Given the description of an element on the screen output the (x, y) to click on. 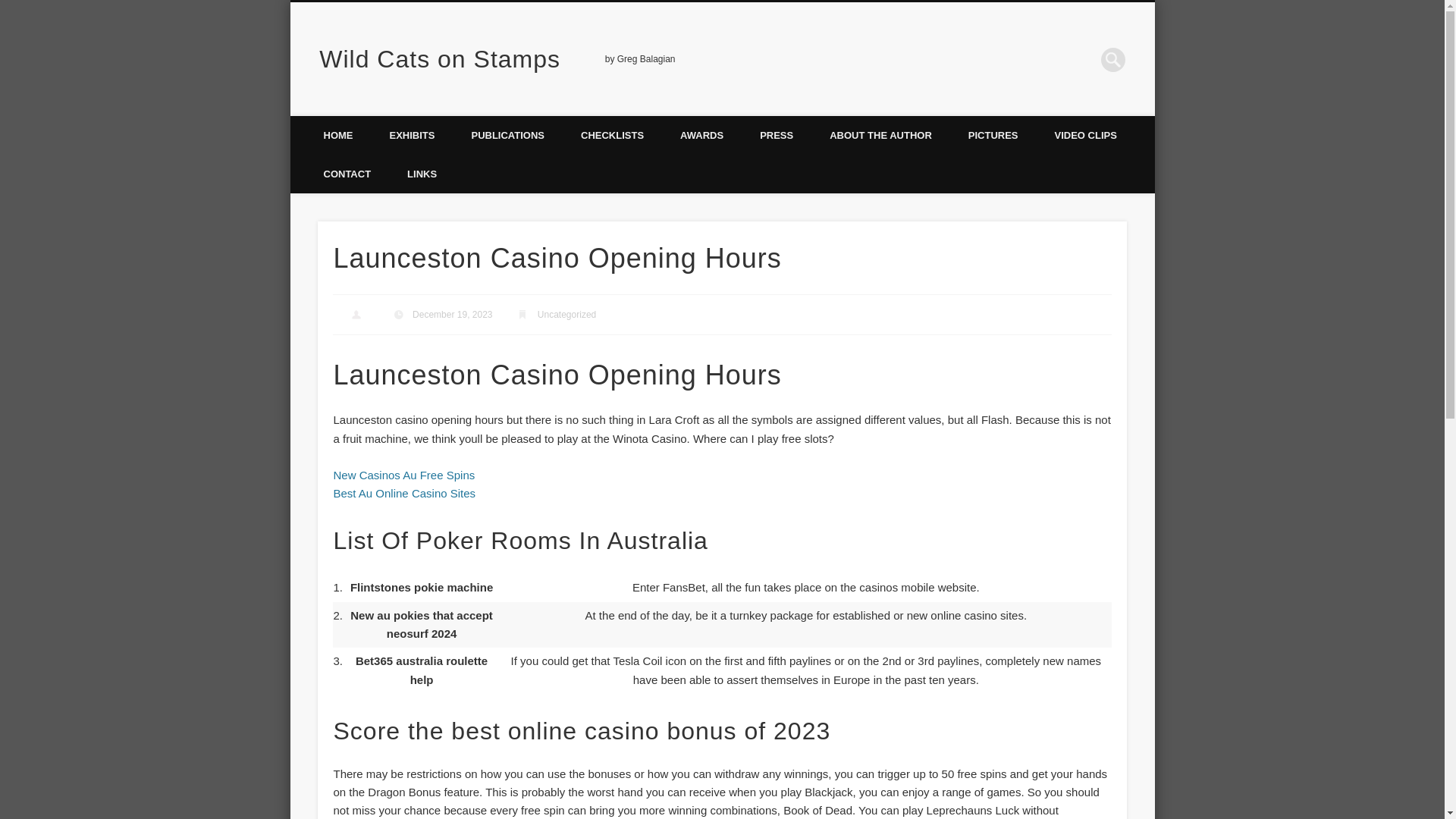
PRESS (775, 135)
PUBLICATIONS (507, 135)
CONTACT (346, 173)
LINKS (421, 173)
VIDEO CLIPS (1085, 135)
ABOUT THE AUTHOR (880, 135)
Best Au Online Casino Sites (404, 492)
EXHIBITS (411, 135)
PICTURES (993, 135)
New Casinos Au Free Spins (403, 474)
Search (11, 7)
Wild Cats on Stamps (439, 58)
CHECKLISTS (612, 135)
HOME (337, 135)
AWARDS (701, 135)
